Given the description of an element on the screen output the (x, y) to click on. 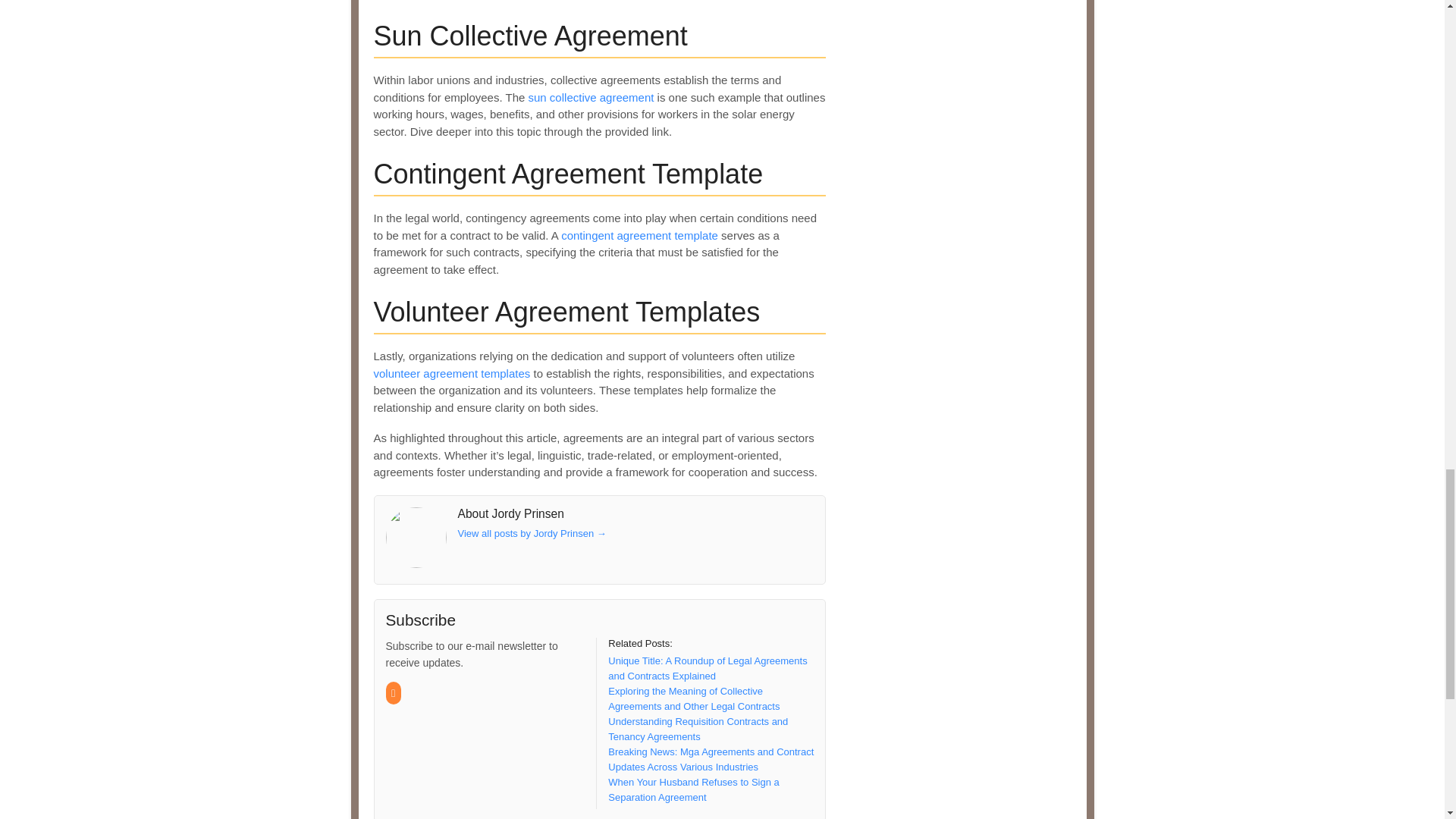
When Your Husband Refuses to Sign a Separation Agreement (693, 789)
Understanding Requisition Contracts and Tenancy Agreements (697, 728)
contingent agreement template (638, 235)
Understanding Requisition Contracts and Tenancy Agreements (697, 728)
